Given the description of an element on the screen output the (x, y) to click on. 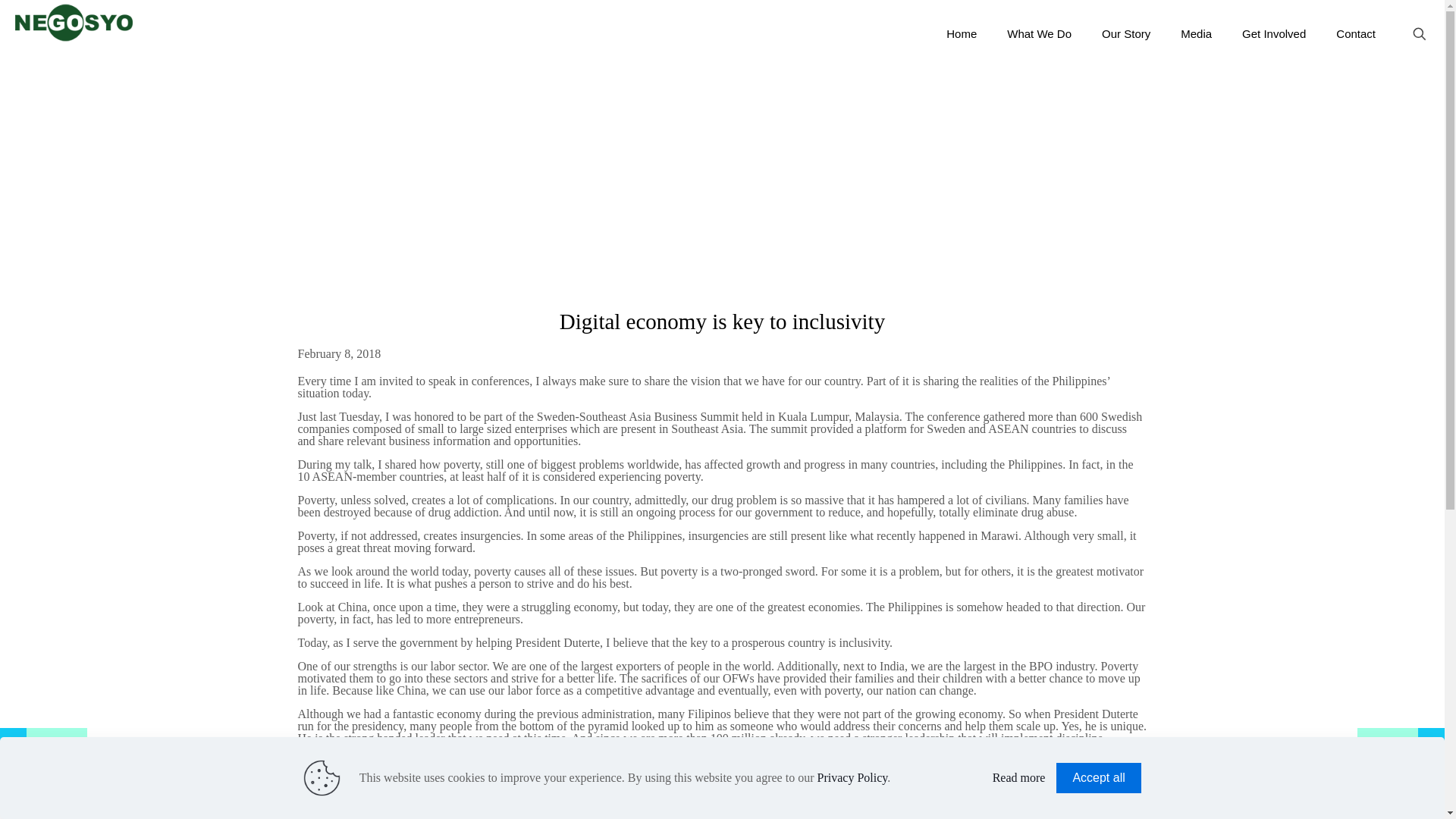
Media (1196, 33)
Read more (1018, 777)
Our Story (1126, 33)
Accept all (1098, 777)
Home (961, 33)
Go Negosyo - Philippine Center for Entrepreneurship (73, 22)
What We Do (1038, 33)
Privacy Policy (852, 777)
Get Involved (1273, 33)
Contact (1355, 33)
